Given the description of an element on the screen output the (x, y) to click on. 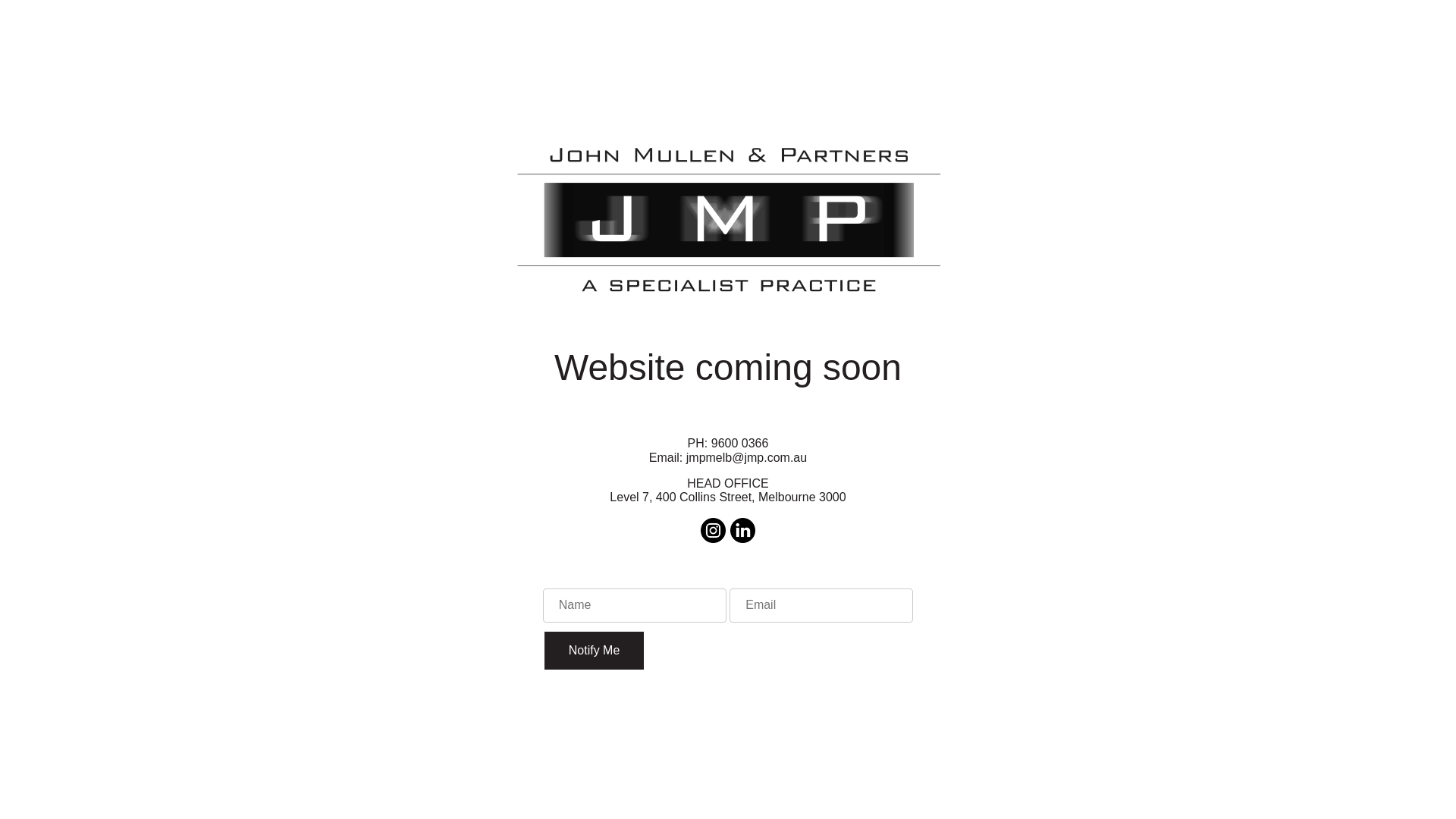
9600 0366 Element type: text (739, 442)
Notify Me Element type: text (594, 650)
jmpmelb@jmp.com.au Element type: text (746, 457)
